Given the description of an element on the screen output the (x, y) to click on. 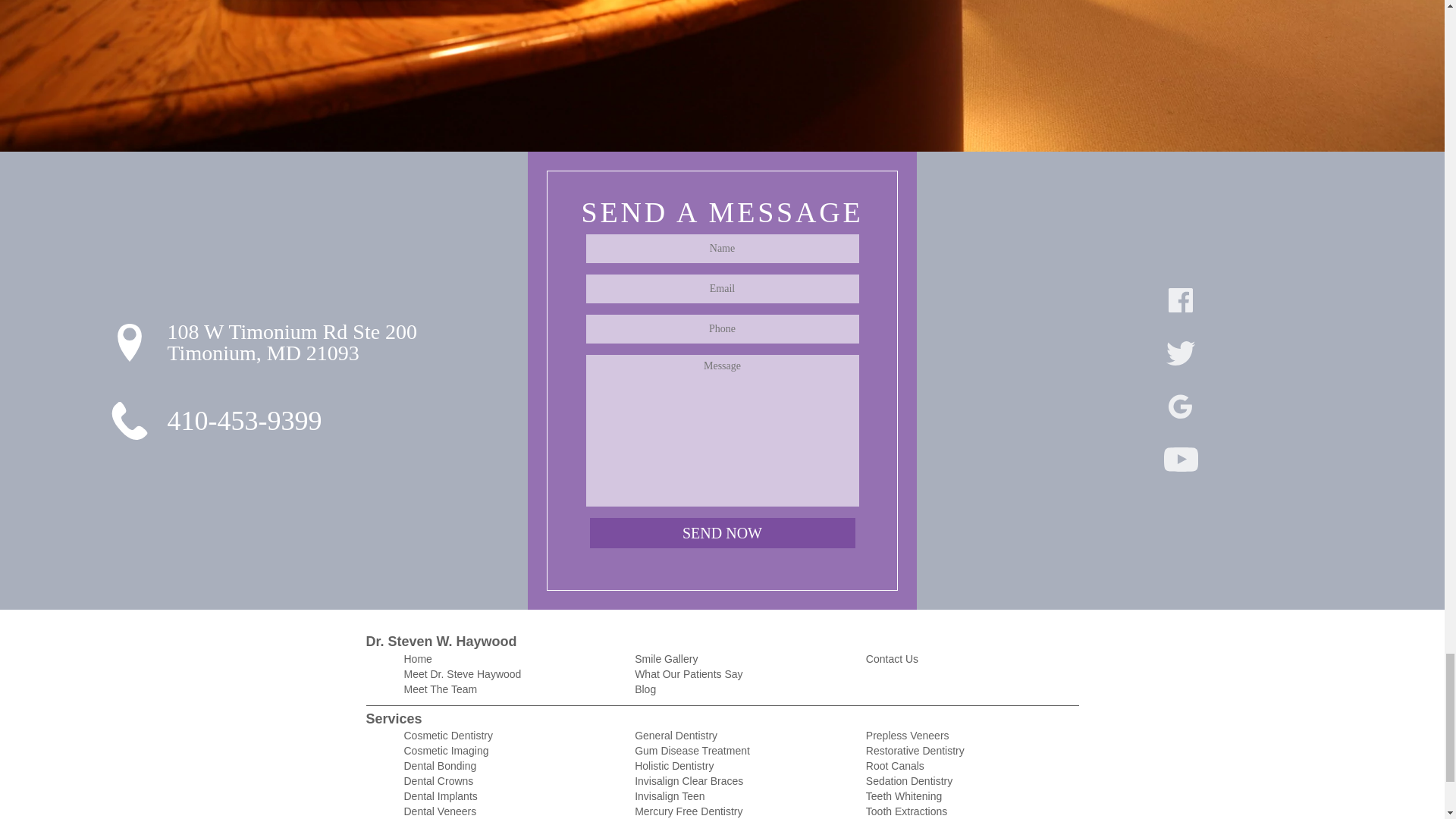
Send Now (722, 532)
